Given the description of an element on the screen output the (x, y) to click on. 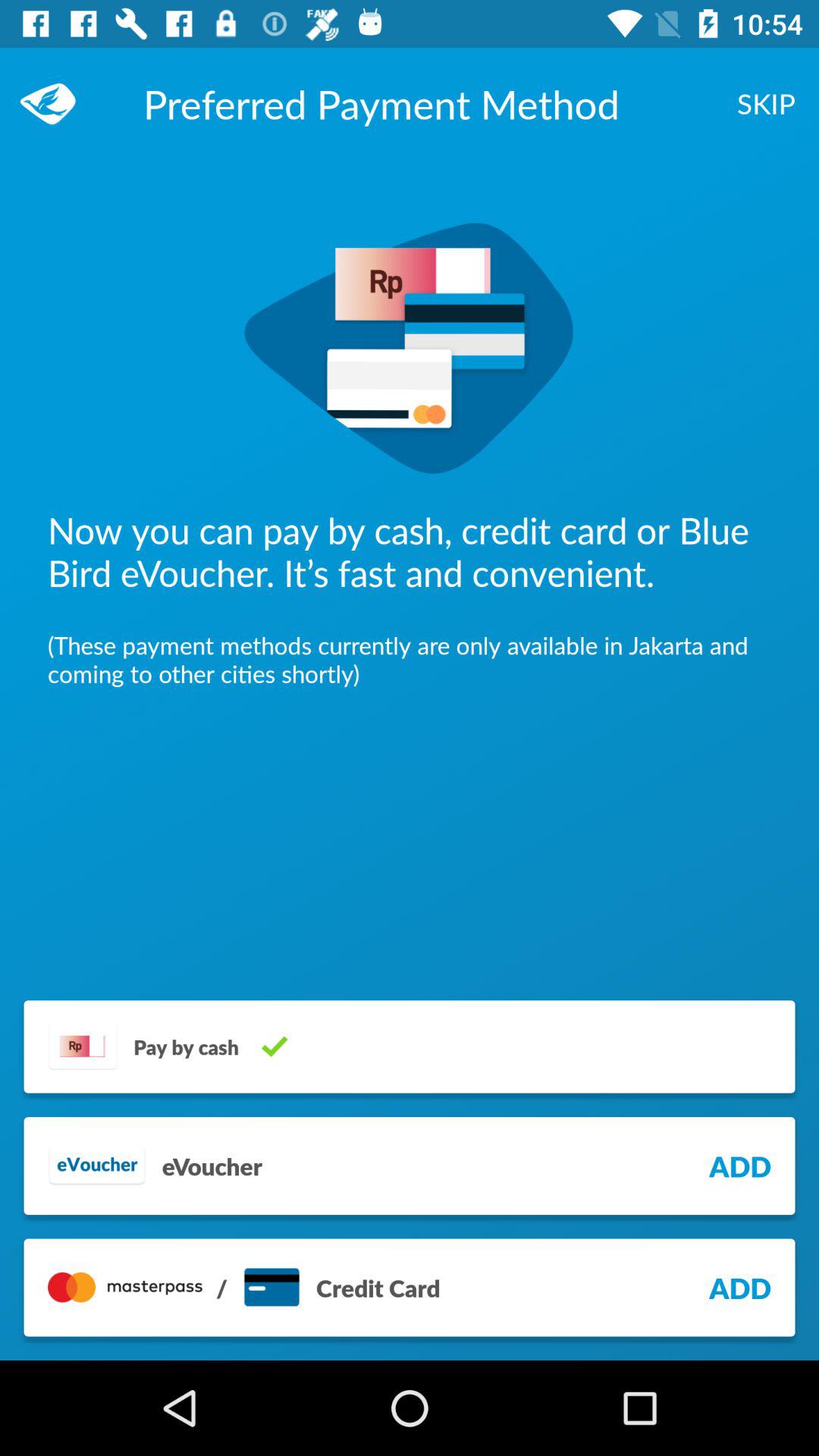
choose item at the top left corner (55, 103)
